Given the description of an element on the screen output the (x, y) to click on. 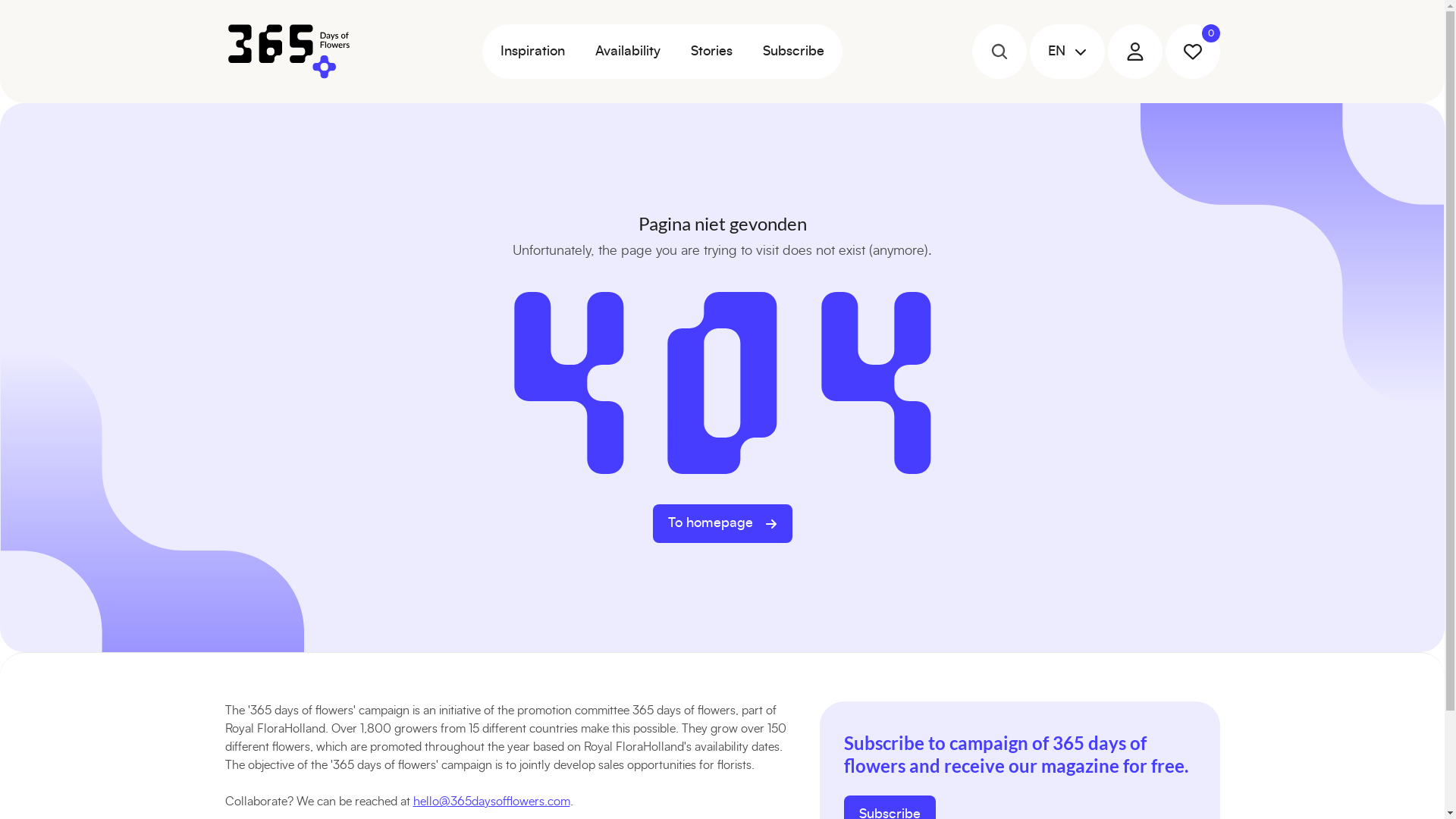
0 Element type: text (1191, 51)
Inspiration Element type: text (532, 51)
Availability Element type: text (626, 51)
To homepage Element type: text (721, 523)
hello@365daysofflowers.com Element type: text (490, 801)
Subscribe Element type: text (793, 51)
Stories Element type: text (710, 51)
